Given the description of an element on the screen output the (x, y) to click on. 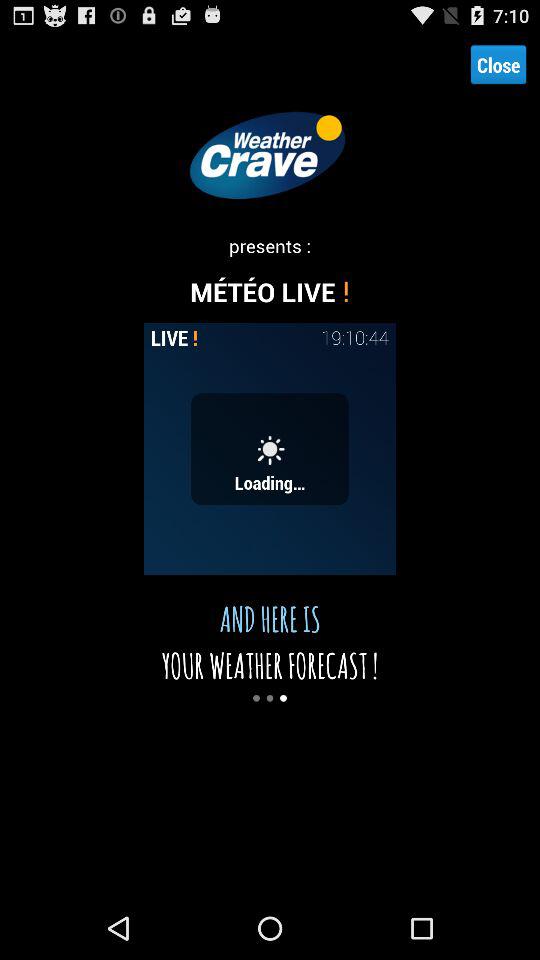
swipe to the close item (498, 64)
